Given the description of an element on the screen output the (x, y) to click on. 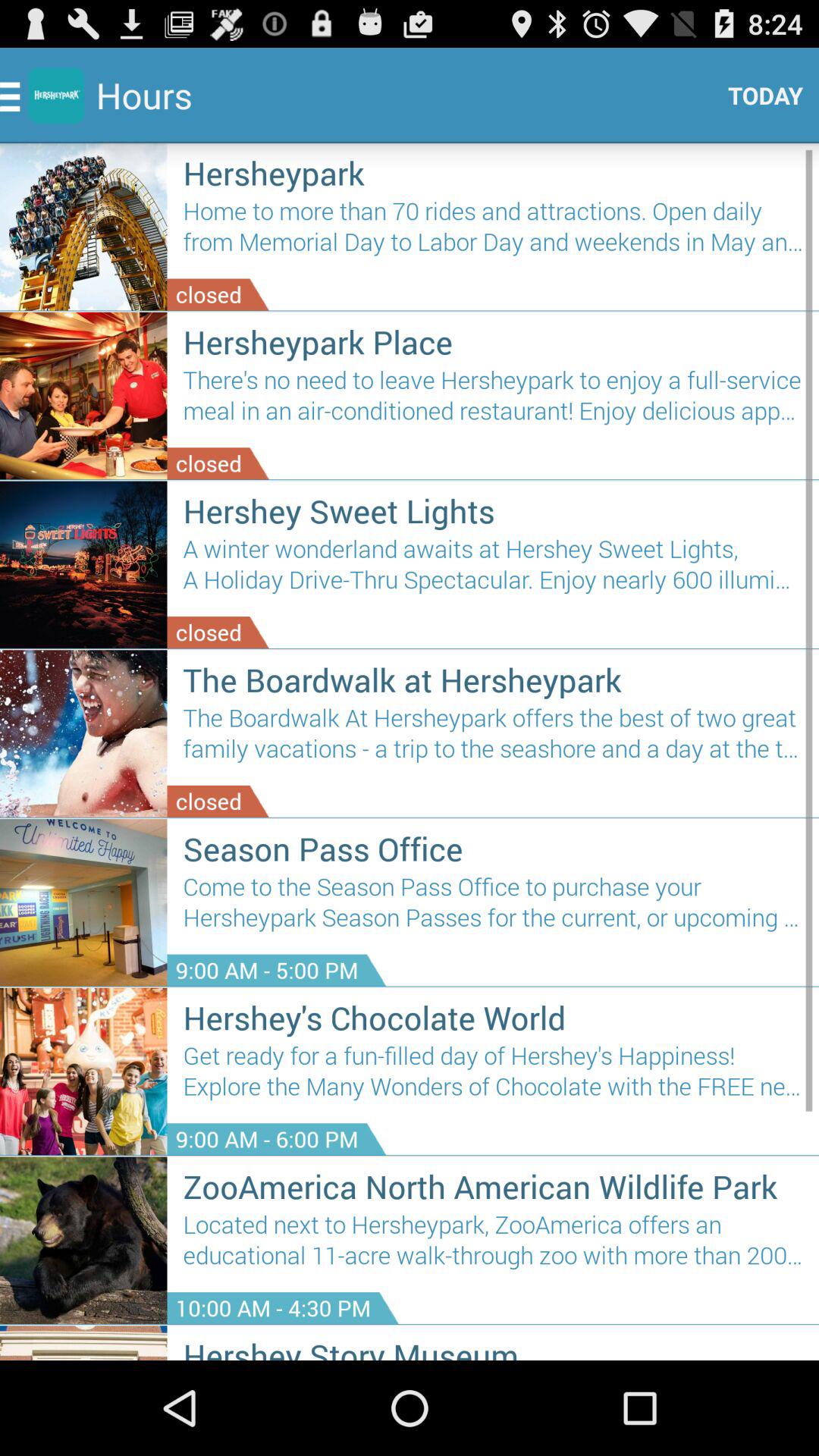
turn on the hersheypark place (493, 341)
